Given the description of an element on the screen output the (x, y) to click on. 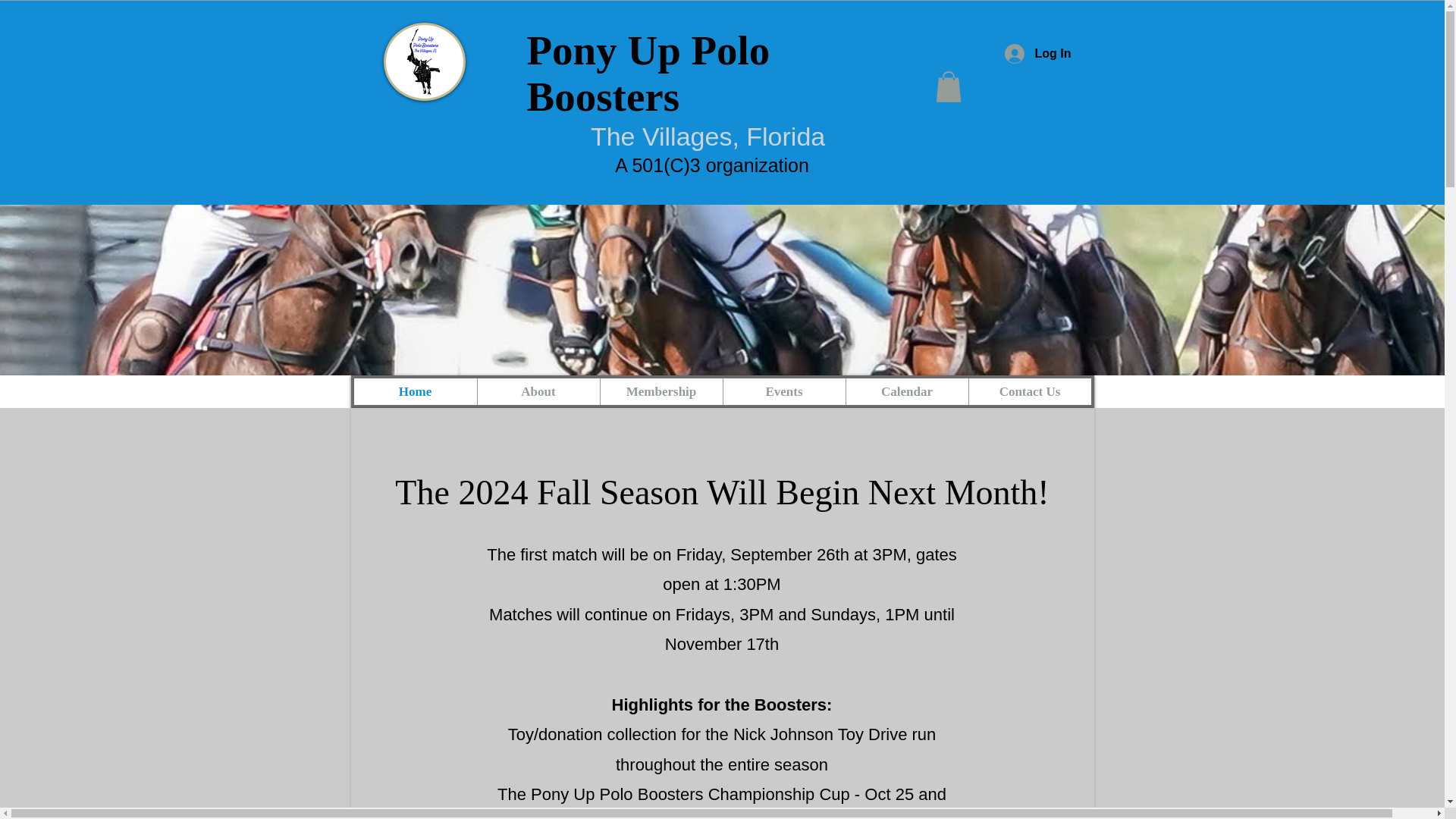
About (537, 391)
Events (783, 391)
Contact Us (1029, 391)
Home (414, 391)
Log In (1037, 53)
Calendar (906, 391)
Membership (660, 391)
